Given the description of an element on the screen output the (x, y) to click on. 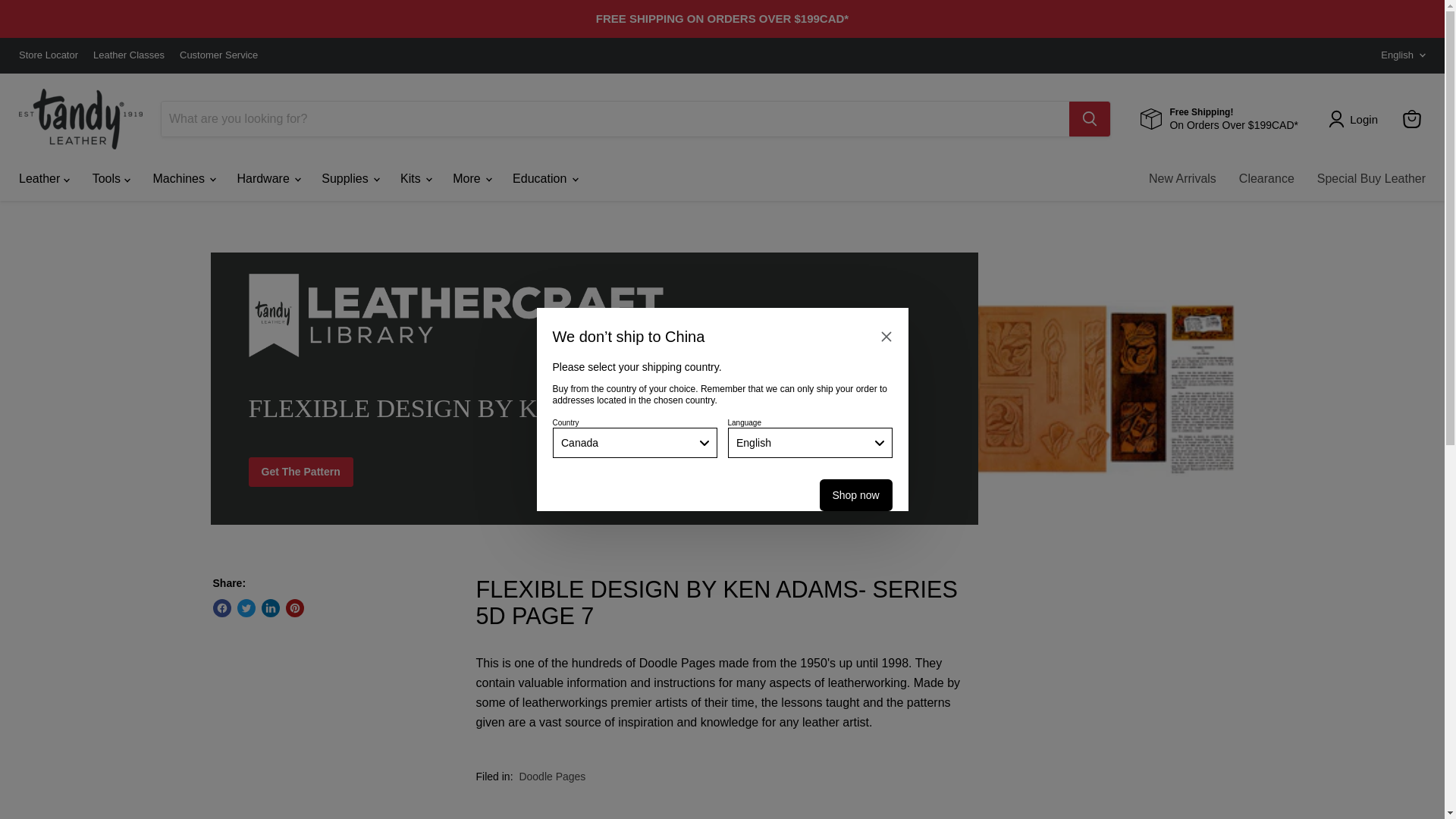
Login (1355, 118)
Canada (633, 442)
View cart (1411, 118)
Store Locator (48, 55)
Customer Service (218, 55)
Show articles tagged Doodle Pages (551, 776)
English (1399, 55)
Shop now (855, 495)
English (810, 442)
Leather Classes (128, 55)
